Given the description of an element on the screen output the (x, y) to click on. 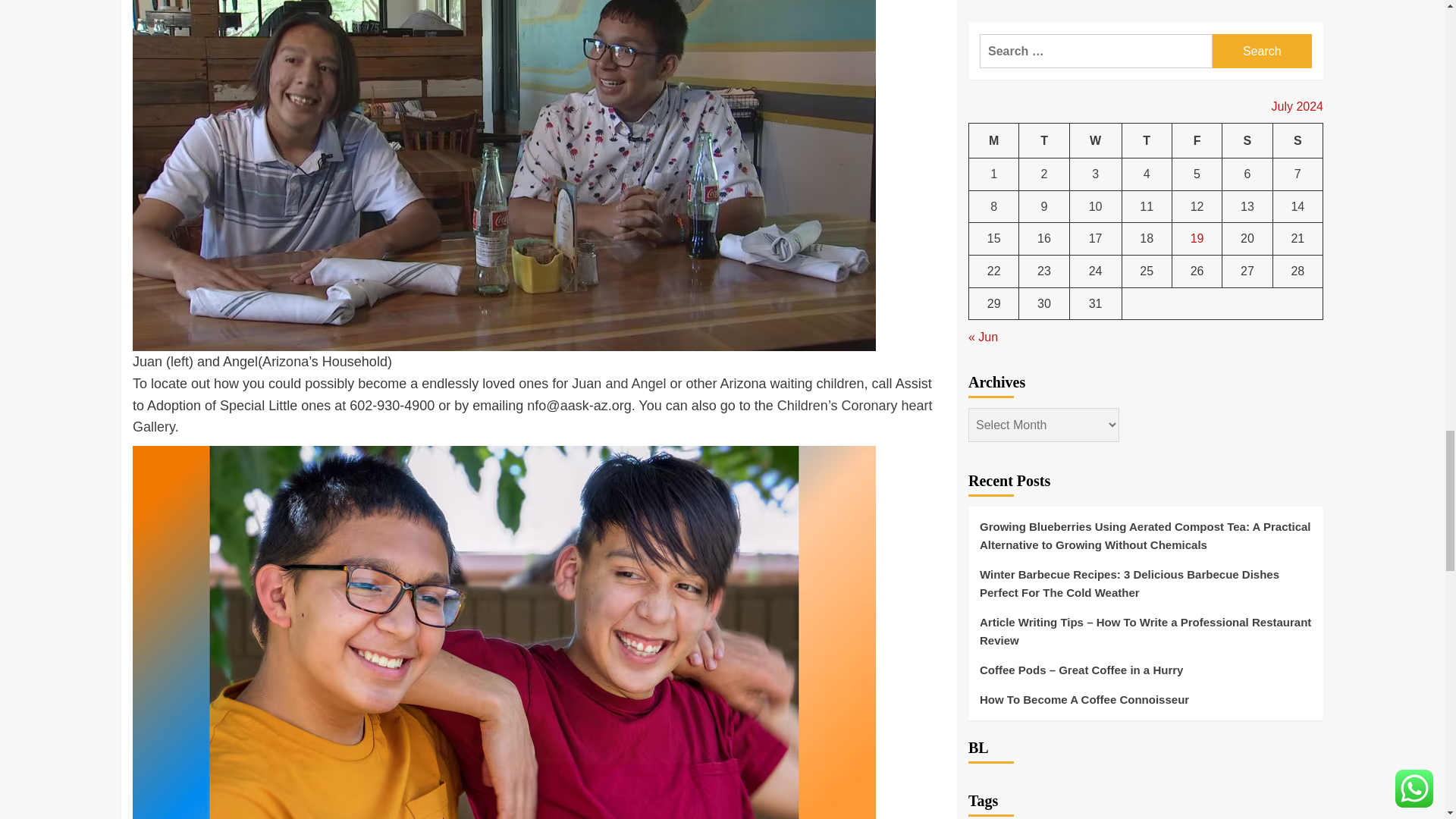
Juan and Angel (618, 383)
